Given the description of an element on the screen output the (x, y) to click on. 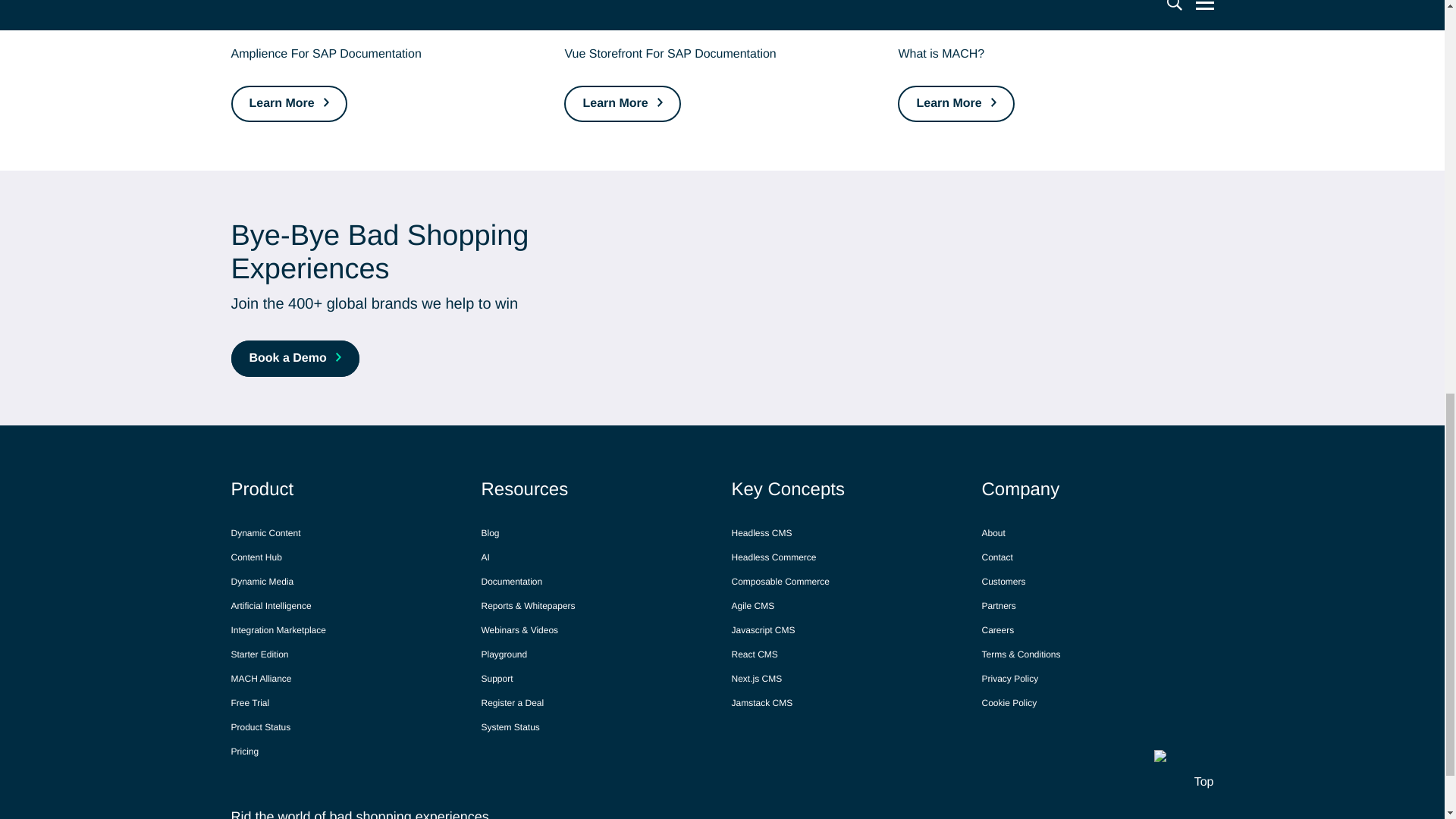
Book a Demo (294, 358)
Headless Commerce (772, 557)
Learn More (288, 103)
Headless CMS (761, 532)
Dynamic Content (264, 532)
Content Hub (255, 557)
System Status (509, 726)
Agile CMS (752, 605)
MACH Alliance (260, 678)
Starter Edition (259, 654)
